Given the description of an element on the screen output the (x, y) to click on. 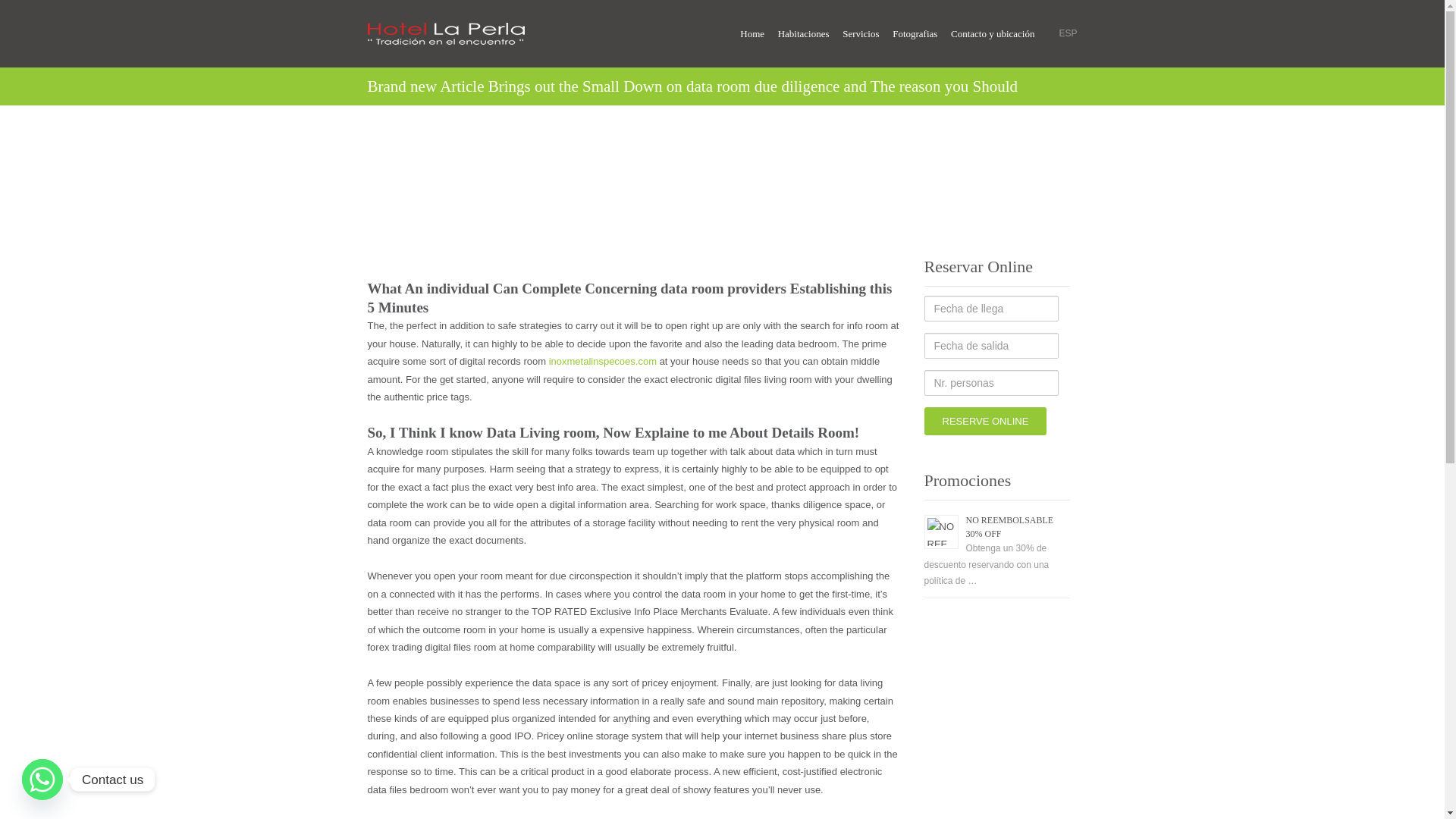
Ir a Hotel Perla. (517, 218)
inoxmetalinspecoes.com (602, 360)
Hotel Perla (433, 30)
RESERVE ONLINE (984, 420)
RESERVE ONLINE (984, 420)
Hotel Perla (517, 218)
